Given the description of an element on the screen output the (x, y) to click on. 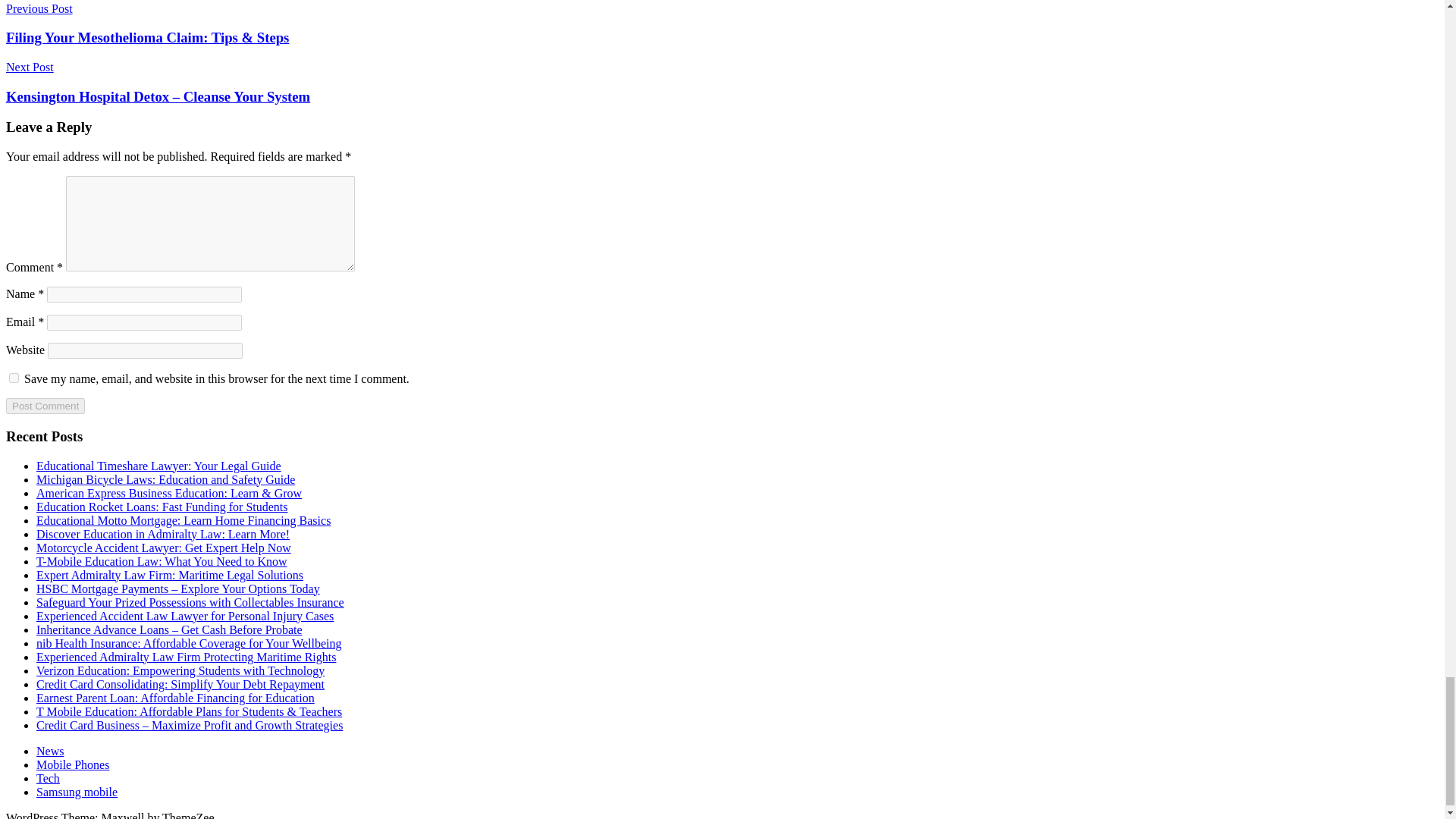
Michigan Bicycle Laws: Education and Safety Guide (165, 479)
Expert Admiralty Law Firm: Maritime Legal Solutions (169, 574)
News (50, 750)
Experienced Accident Law Lawyer for Personal Injury Cases (184, 615)
Motorcycle Accident Lawyer: Get Expert Help Now (163, 547)
Verizon Education: Empowering Students with Technology (180, 670)
Earnest Parent Loan: Affordable Financing for Education (175, 697)
yes (13, 378)
Discover Education in Admiralty Law: Learn More! (162, 533)
Post Comment (44, 406)
Educational Timeshare Lawyer: Your Legal Guide (158, 465)
Education Rocket Loans: Fast Funding for Students (162, 506)
nib Health Insurance: Affordable Coverage for Your Wellbeing (188, 643)
Credit Card Consolidating: Simplify Your Debt Repayment (180, 684)
